Given the description of an element on the screen output the (x, y) to click on. 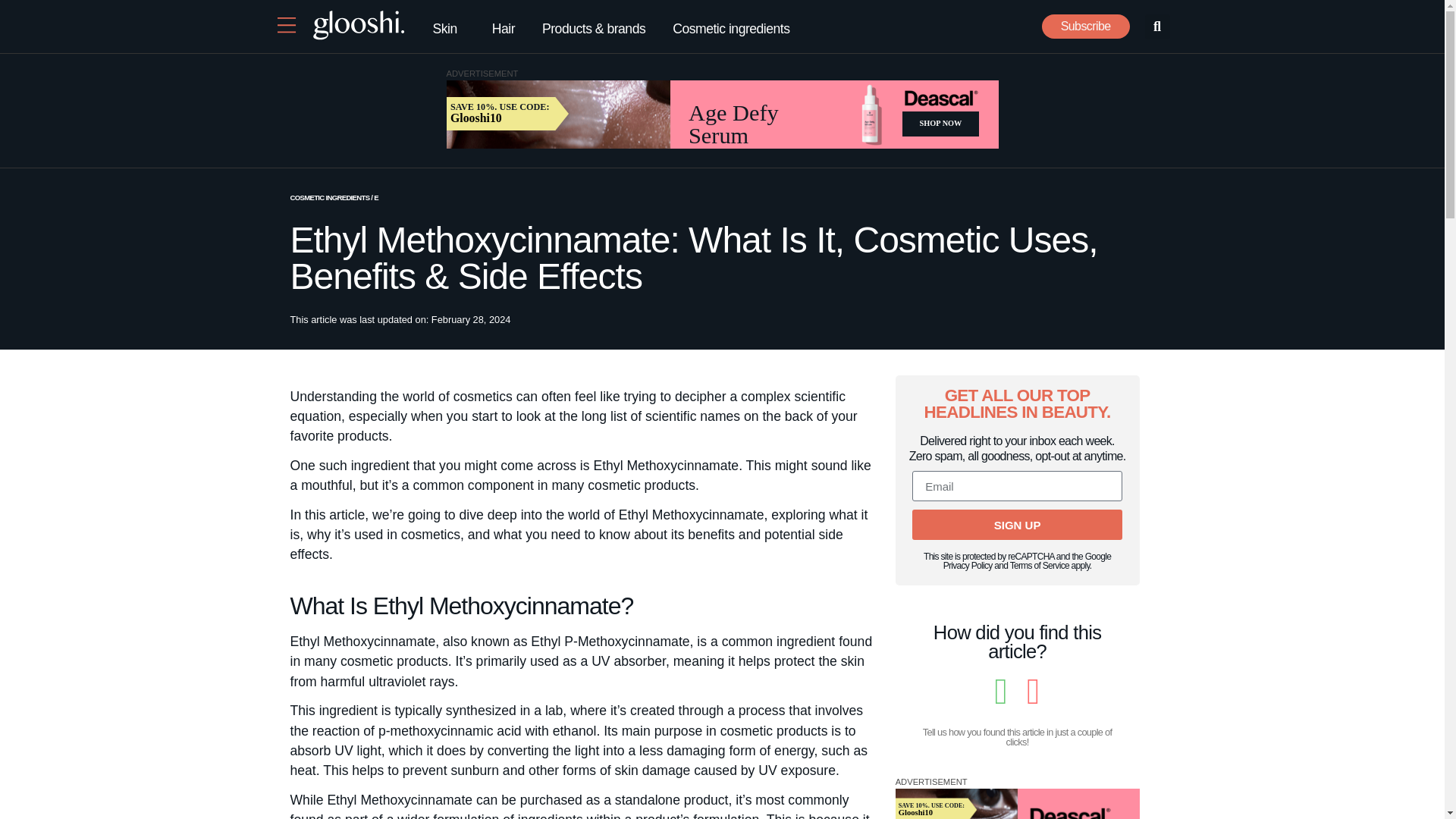
Skin (448, 27)
Hair (503, 27)
Cosmetic ingredients (731, 27)
Subscribe (1085, 26)
